Given the description of an element on the screen output the (x, y) to click on. 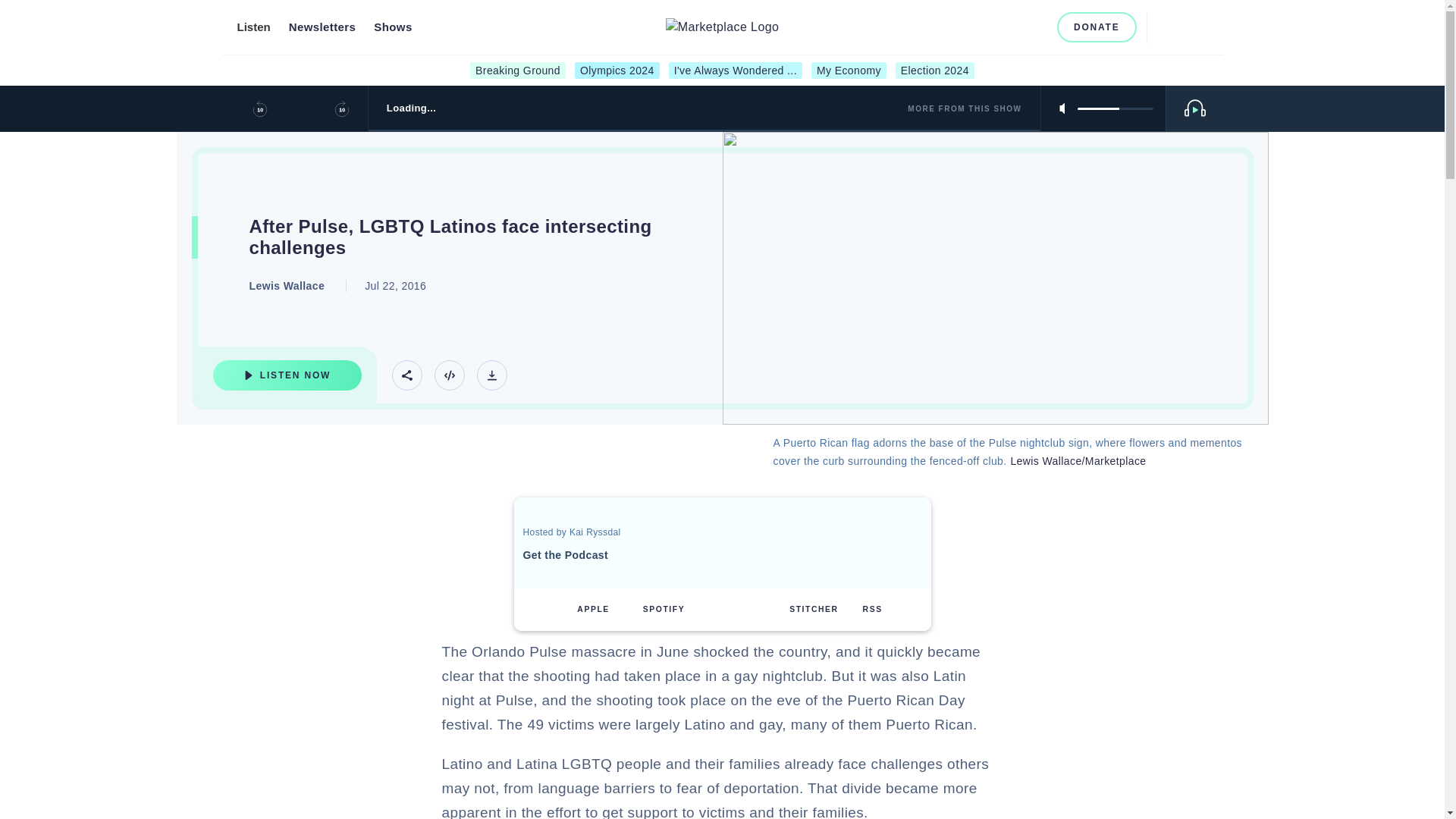
Newsletters (322, 27)
Menu (1198, 27)
Listen (252, 26)
Shows (393, 26)
Listen Now (286, 374)
Instagram (985, 27)
Download Track (491, 374)
Search (1164, 27)
volume (1115, 108)
